Given the description of an element on the screen output the (x, y) to click on. 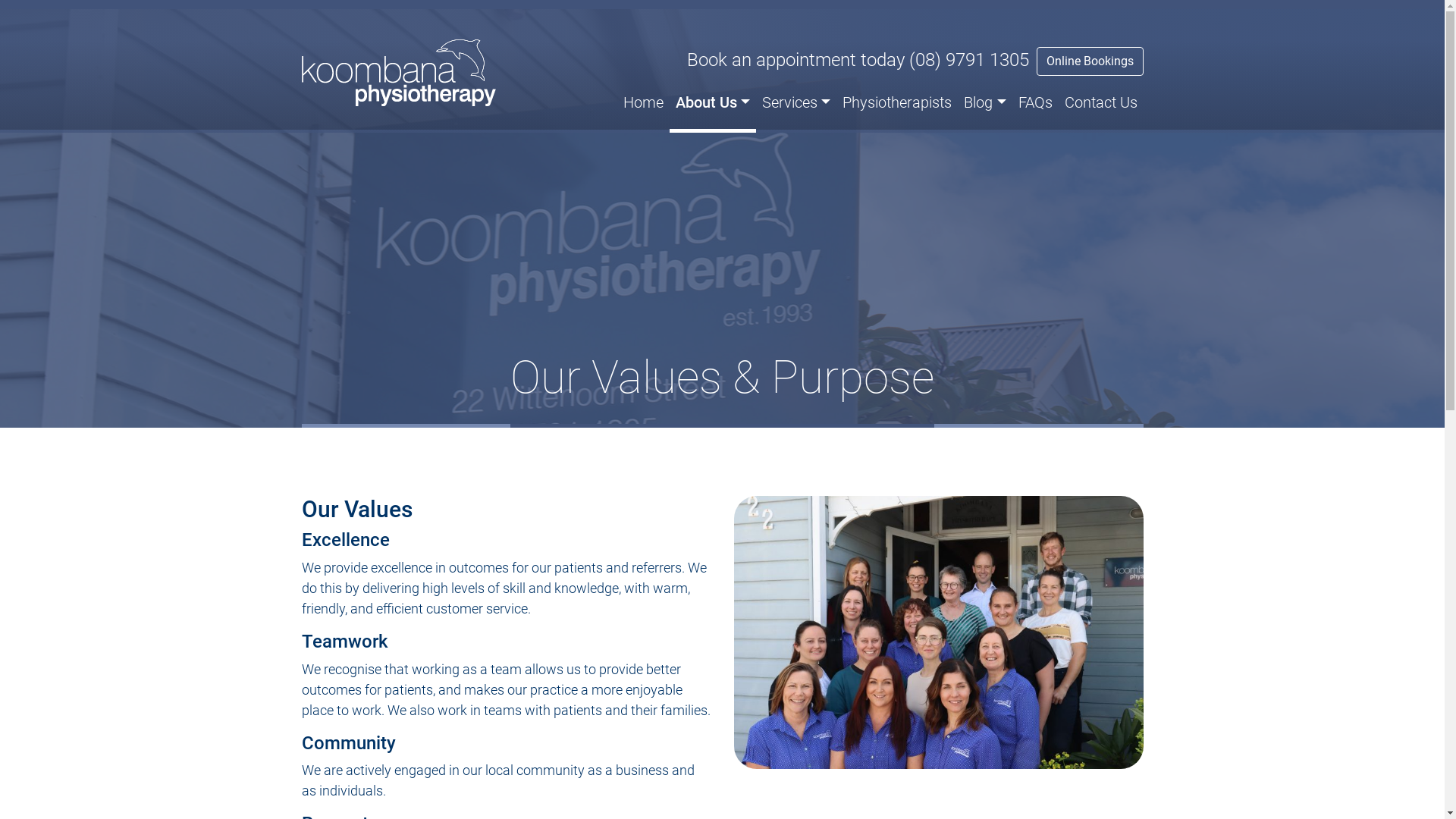
Physiotherapists Element type: text (896, 103)
Blog Element type: text (984, 103)
(08) 9791 1305 Element type: text (968, 59)
Home Element type: text (643, 103)
Contact Us Element type: text (1100, 103)
FAQs Element type: text (1034, 103)
Online Bookings Element type: text (1088, 61)
Services Element type: text (796, 103)
About Us Element type: text (712, 103)
